Given the description of an element on the screen output the (x, y) to click on. 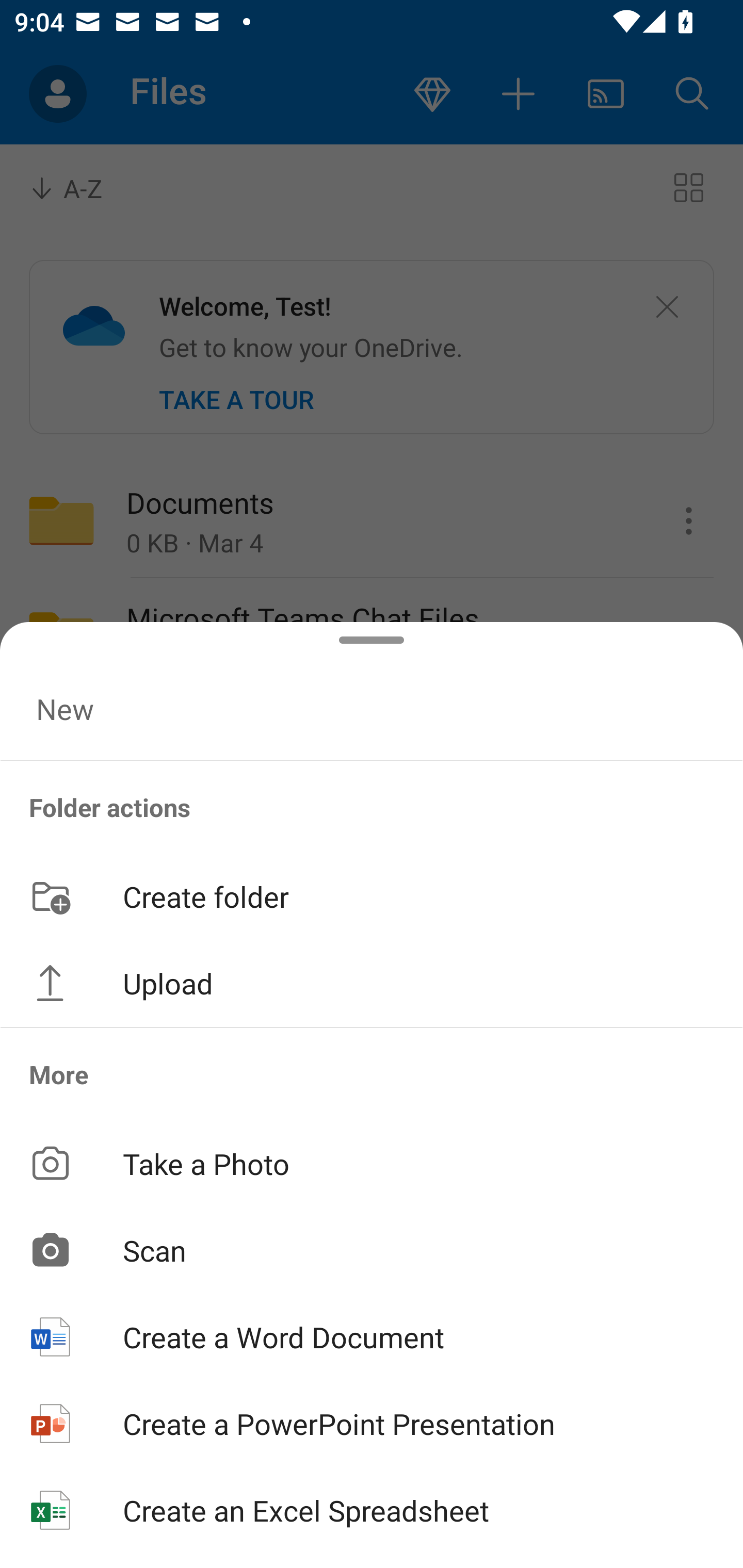
Create folder button Create folder (371, 895)
Upload button Upload (371, 983)
Take a Photo button Take a Photo (371, 1163)
Scan button Scan (371, 1250)
